Given the description of an element on the screen output the (x, y) to click on. 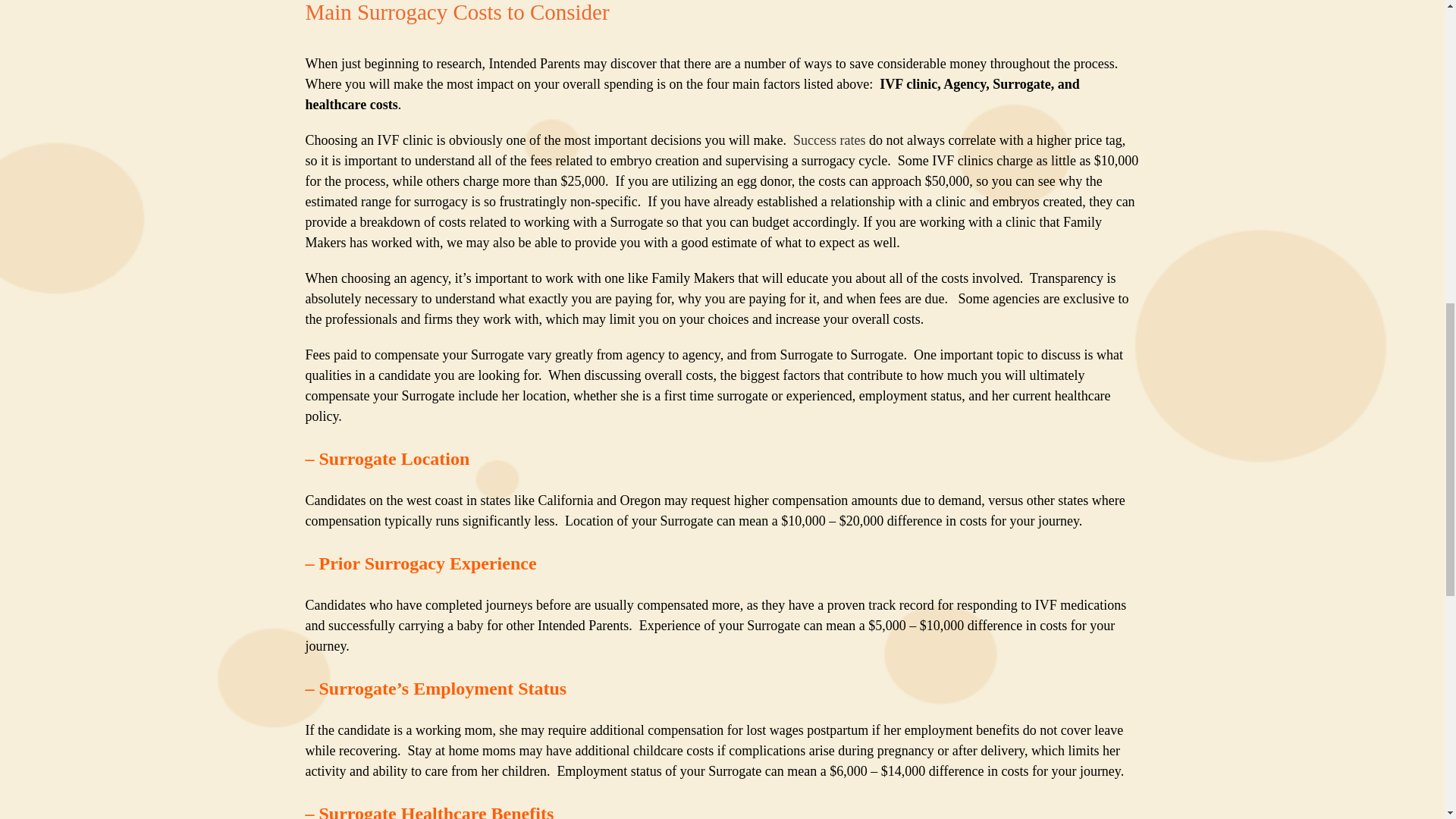
Success rates (828, 140)
